Given the description of an element on the screen output the (x, y) to click on. 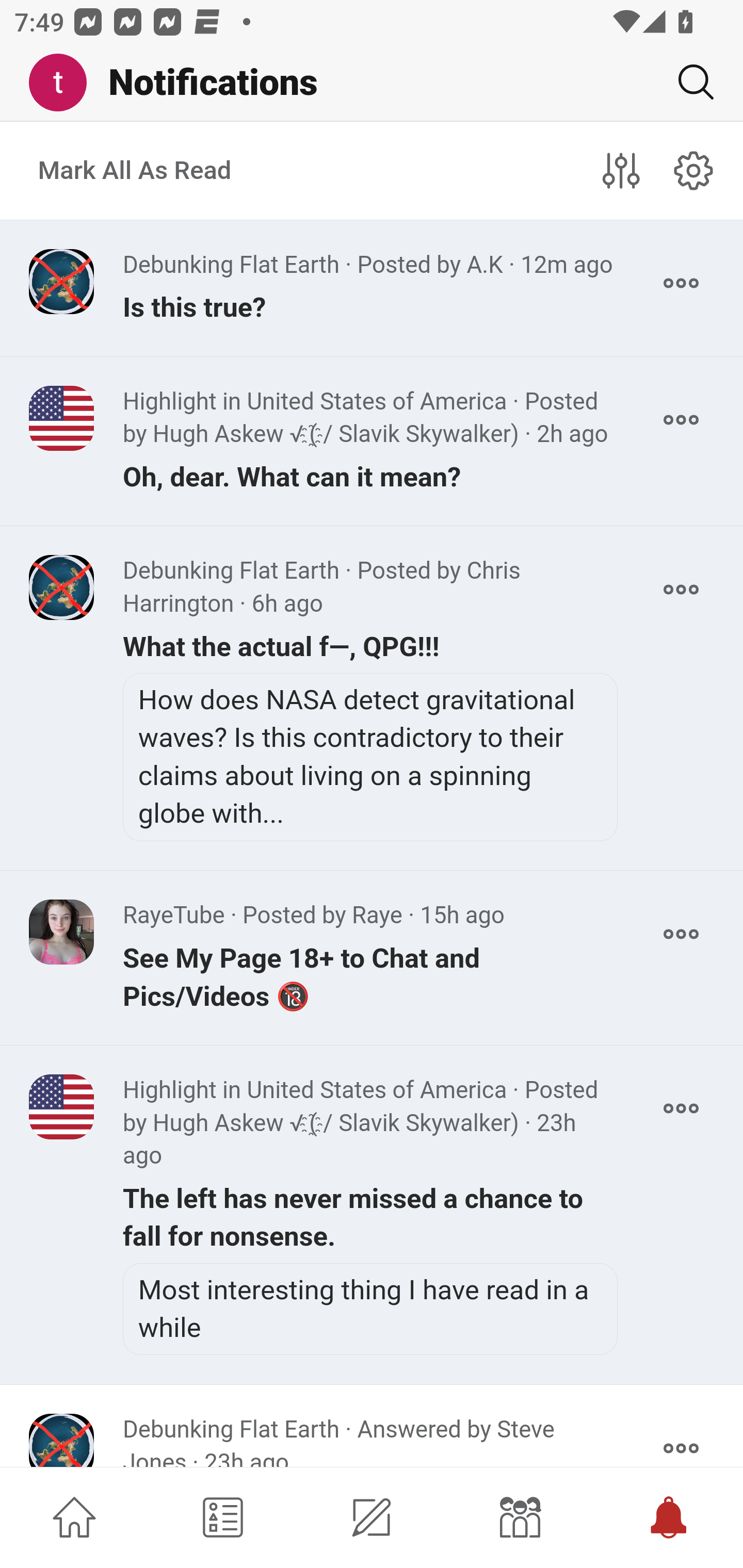
Me Notifications Search (371, 82)
Me (64, 83)
Search (688, 82)
Mark All As Read (135, 171)
notifications# (693, 170)
More (681, 282)
More (681, 419)
More (681, 590)
More (681, 934)
More (681, 1107)
More (681, 1440)
